Given the description of an element on the screen output the (x, y) to click on. 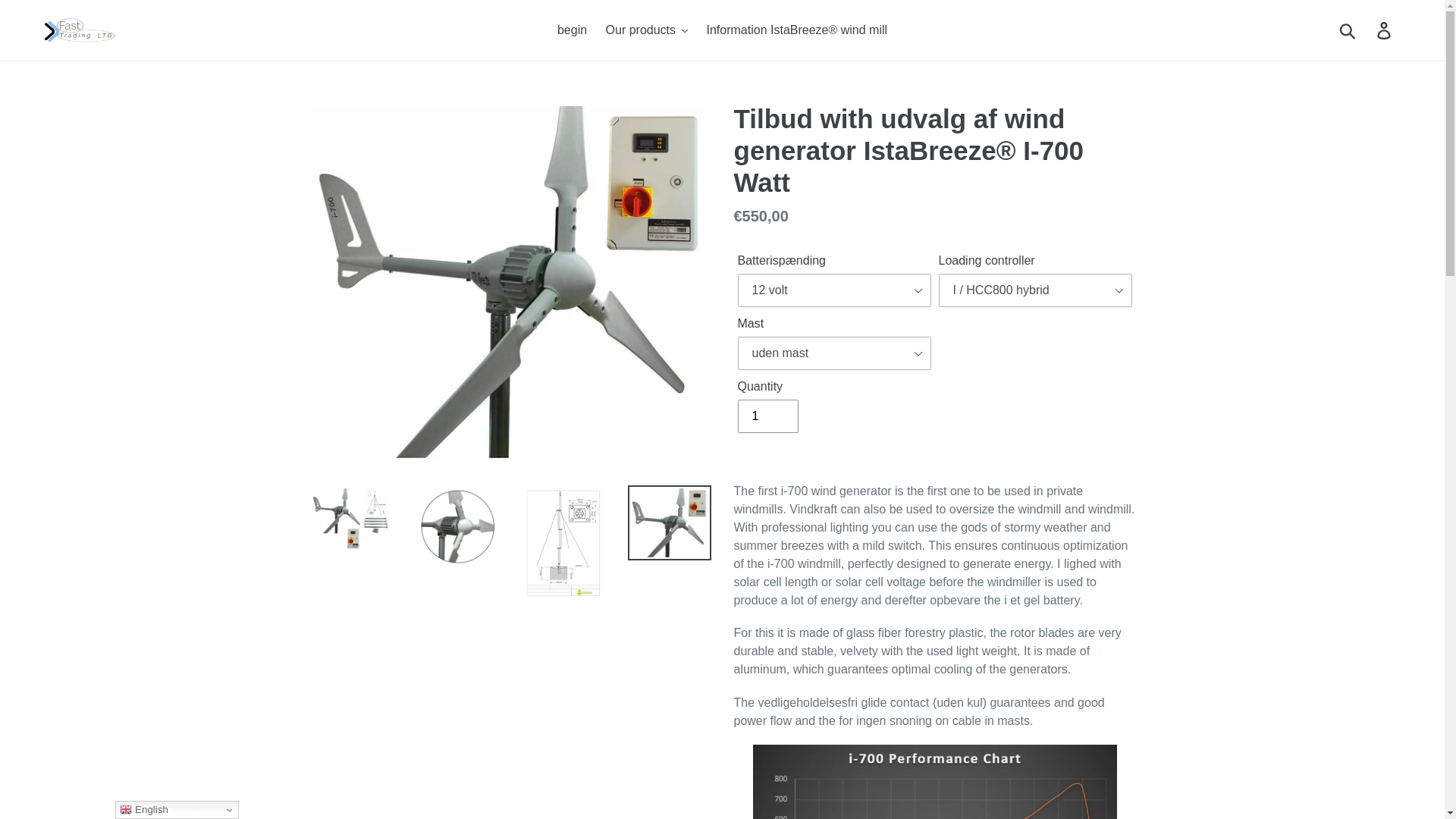
Submit (1348, 29)
begin (572, 29)
1 (766, 416)
Log in (1385, 29)
